Given the description of an element on the screen output the (x, y) to click on. 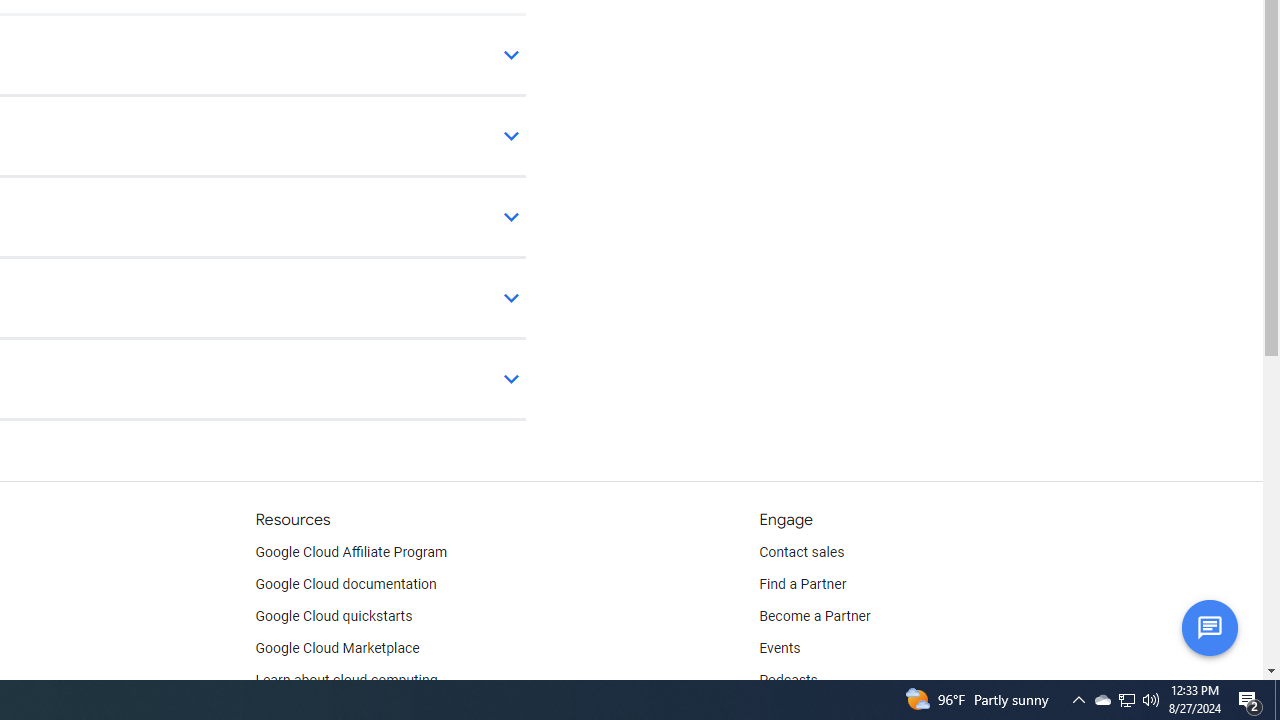
Button to activate chat (1209, 627)
Google Cloud Marketplace (336, 648)
Contact sales (801, 552)
Events (780, 648)
Become a Partner (814, 616)
Find a Partner (803, 584)
Learn about cloud computing (345, 680)
Podcasts (788, 680)
Google Cloud Affiliate Program (351, 552)
Google Cloud documentation (345, 584)
Google Cloud quickstarts (333, 616)
